Given the description of an element on the screen output the (x, y) to click on. 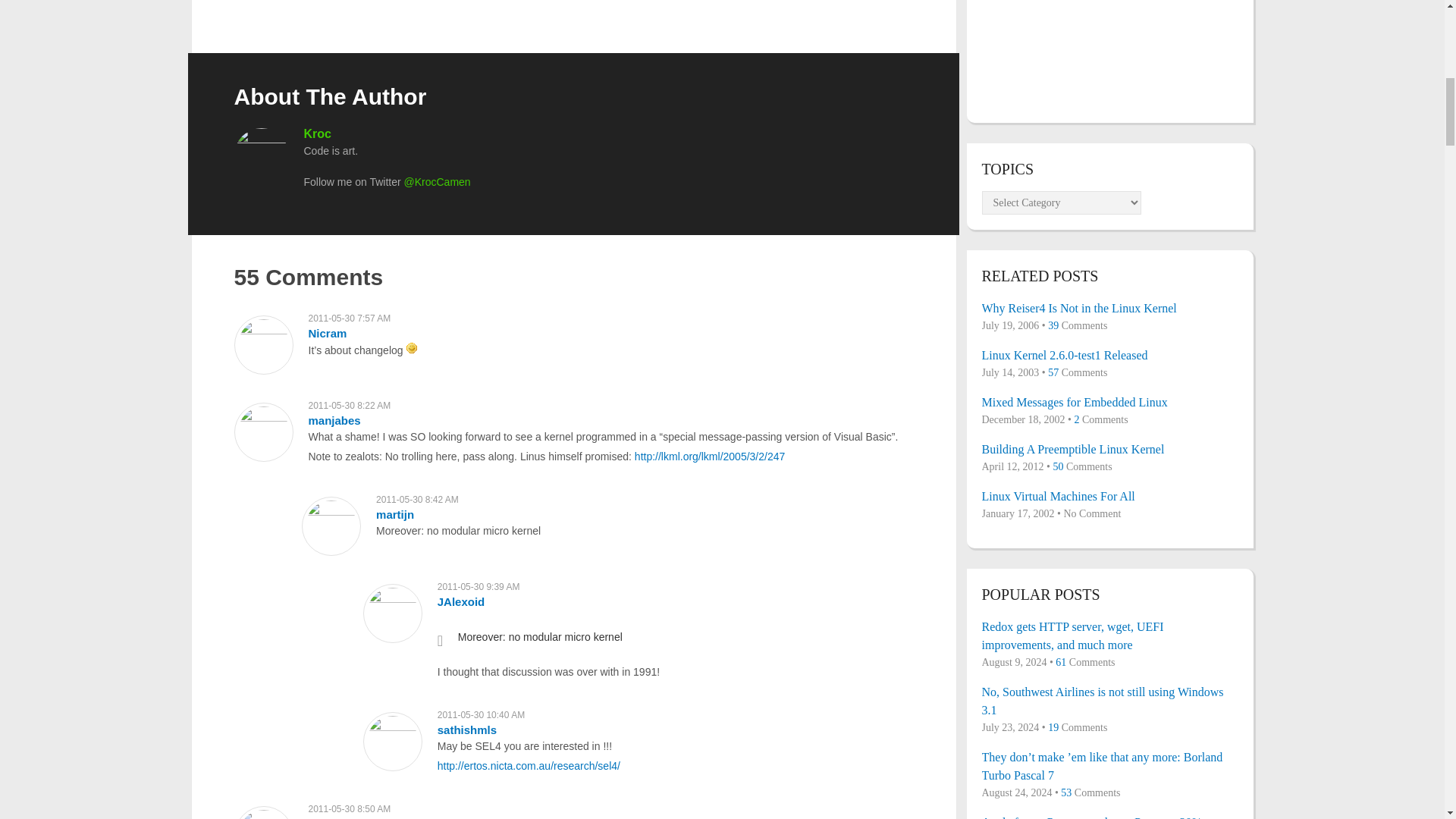
manjabes (333, 420)
martijn (394, 513)
Kroc (316, 133)
sathishmls (467, 729)
JAlexoid (461, 601)
Nicram (326, 332)
